Given the description of an element on the screen output the (x, y) to click on. 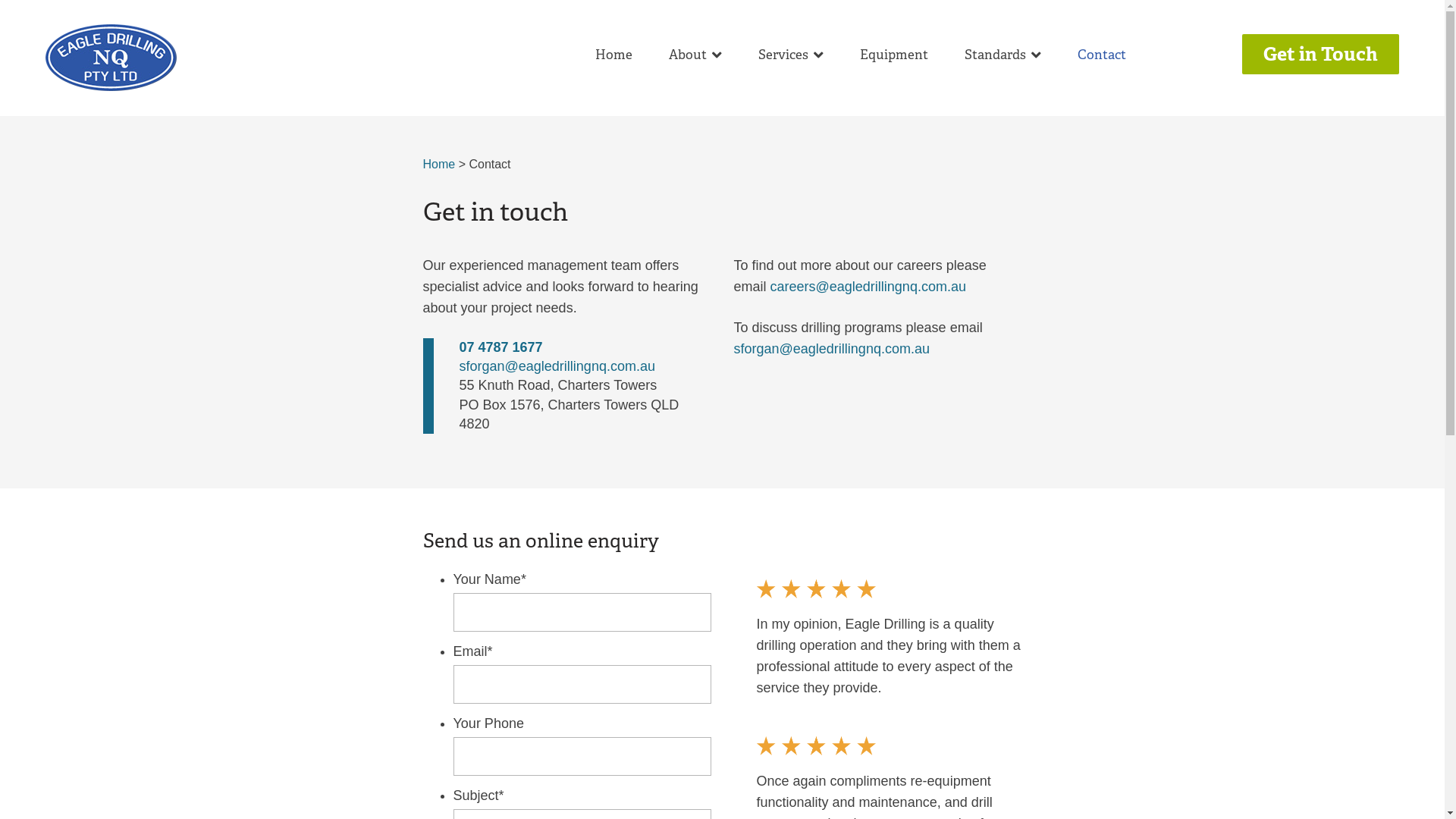
sforgan@eagledrillingnq.com.au Element type: text (831, 348)
Home Element type: text (439, 163)
Home Element type: text (613, 54)
Standards Element type: text (1002, 54)
Get in Touch Element type: text (1320, 54)
careers@eagledrillingnq.com.au Element type: text (868, 286)
sforgan@eagledrillingnq.com.au Element type: text (557, 365)
Contact Element type: text (1101, 54)
Services Element type: text (790, 54)
07 4787 1677 Element type: text (500, 346)
About Element type: text (695, 54)
Equipment Element type: text (893, 54)
